Given the description of an element on the screen output the (x, y) to click on. 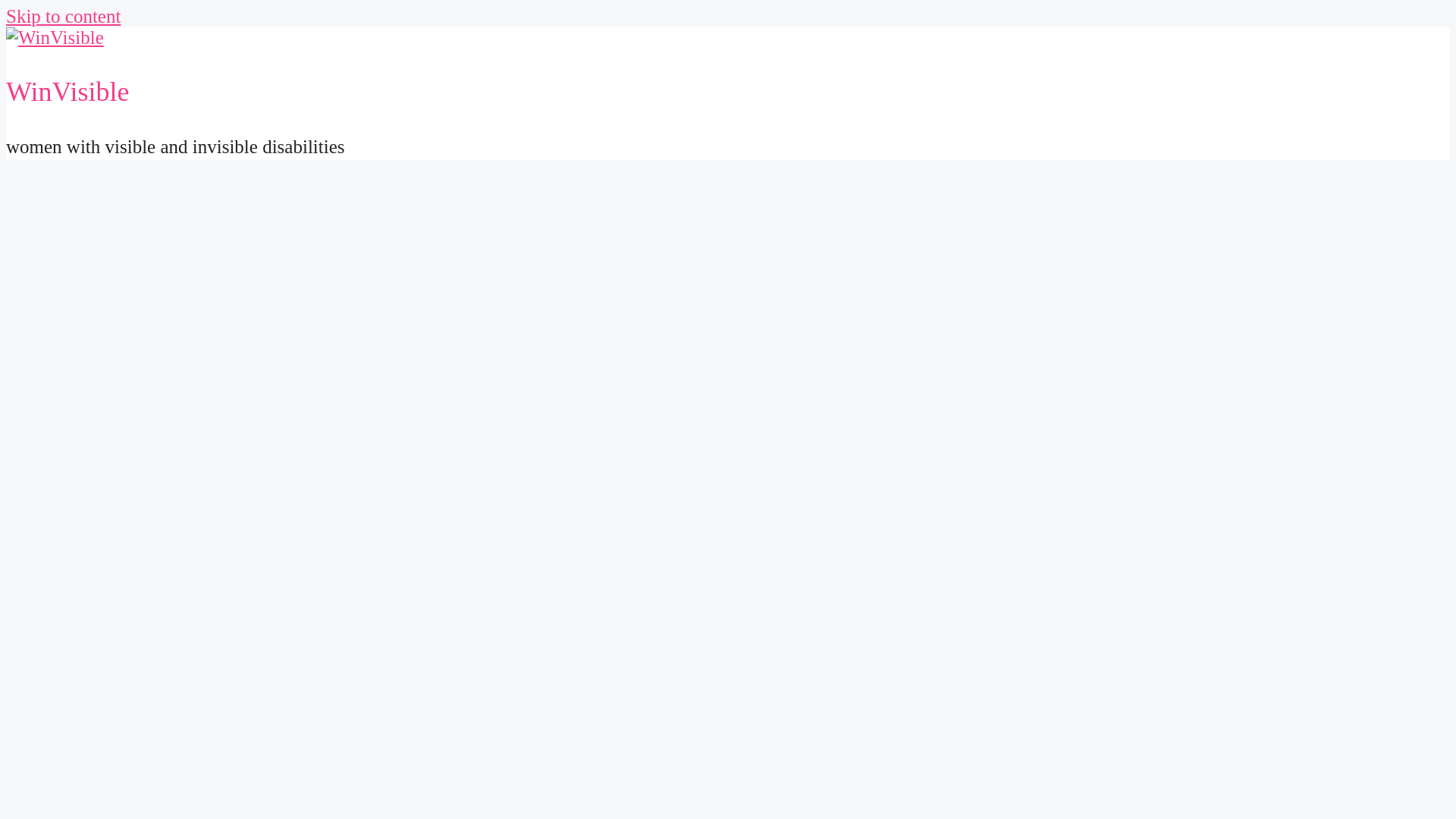
Skip to content (62, 15)
Skip to content (62, 15)
WinVisible (67, 91)
